Given the description of an element on the screen output the (x, y) to click on. 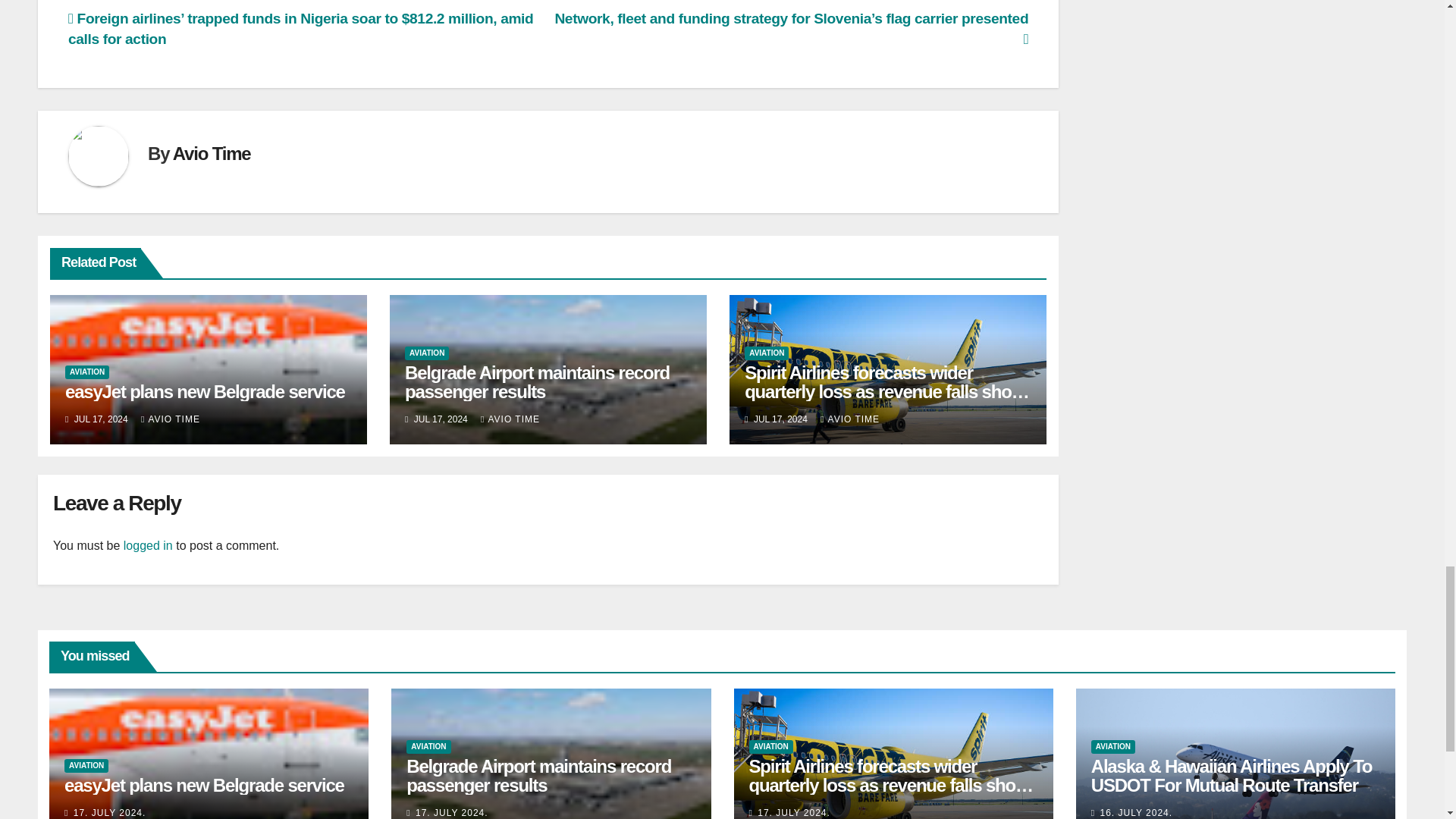
AVIATION (766, 353)
AVIO TIME (510, 419)
AVIATION (87, 372)
Belgrade Airport maintains record passenger results (536, 382)
AVIATION (426, 353)
Permalink to: easyJet plans new Belgrade service (203, 784)
Avio Time (211, 153)
easyJet plans new Belgrade service (205, 391)
AVIO TIME (170, 419)
Permalink to: easyJet plans new Belgrade service (205, 391)
